Given the description of an element on the screen output the (x, y) to click on. 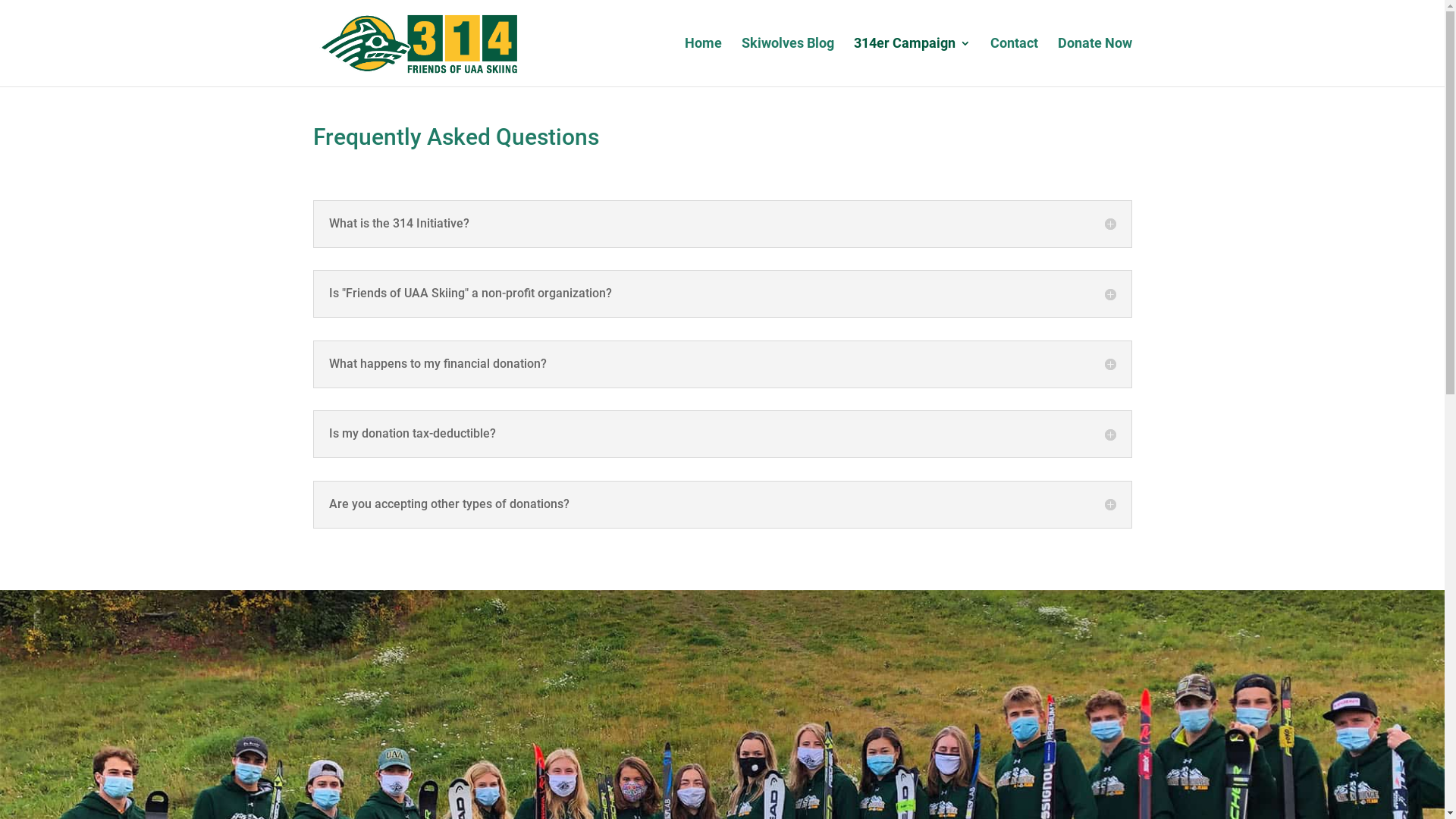
Skiwolves Blog Element type: text (787, 61)
Contact Element type: text (1014, 61)
Home Element type: text (702, 61)
314er Campaign Element type: text (911, 61)
Donate Now Element type: text (1094, 61)
